Given the description of an element on the screen output the (x, y) to click on. 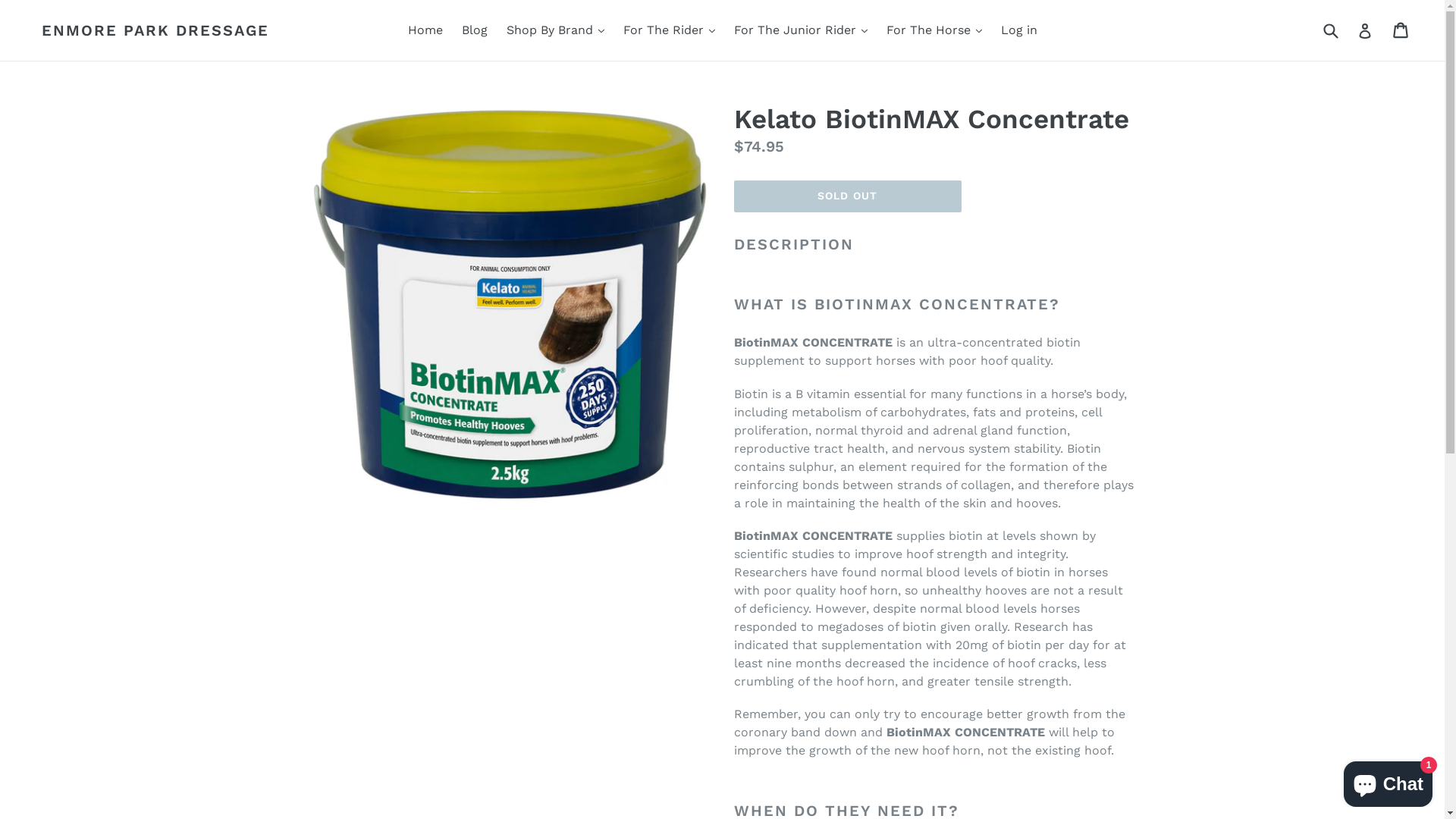
Shopify online store chat Element type: hover (1388, 780)
Log in Element type: text (1364, 30)
Submit Element type: text (1329, 29)
SOLD OUT Element type: text (847, 196)
Blog Element type: text (473, 29)
ENMORE PARK DRESSAGE Element type: text (155, 30)
Cart
Cart Element type: text (1401, 29)
Log in Element type: text (1018, 29)
Home Element type: text (425, 29)
